Given the description of an element on the screen output the (x, y) to click on. 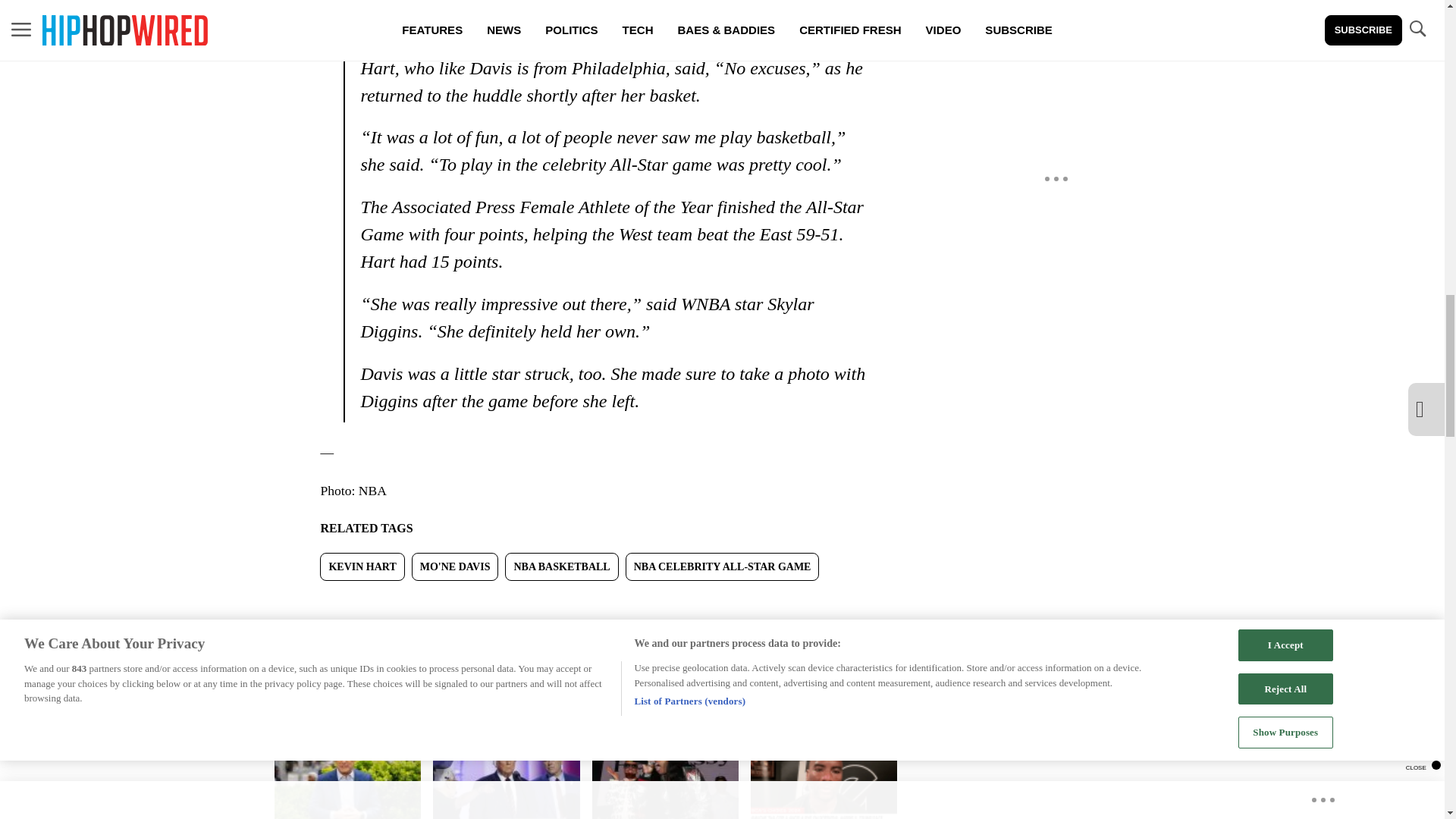
NBA CELEBRITY ALL-STAR GAME (722, 566)
NBA BASKETBALL (561, 566)
MO'NE DAVIS (455, 566)
KEVIN HART (362, 566)
Vuukle Sharebar Widget (585, 605)
